Given the description of an element on the screen output the (x, y) to click on. 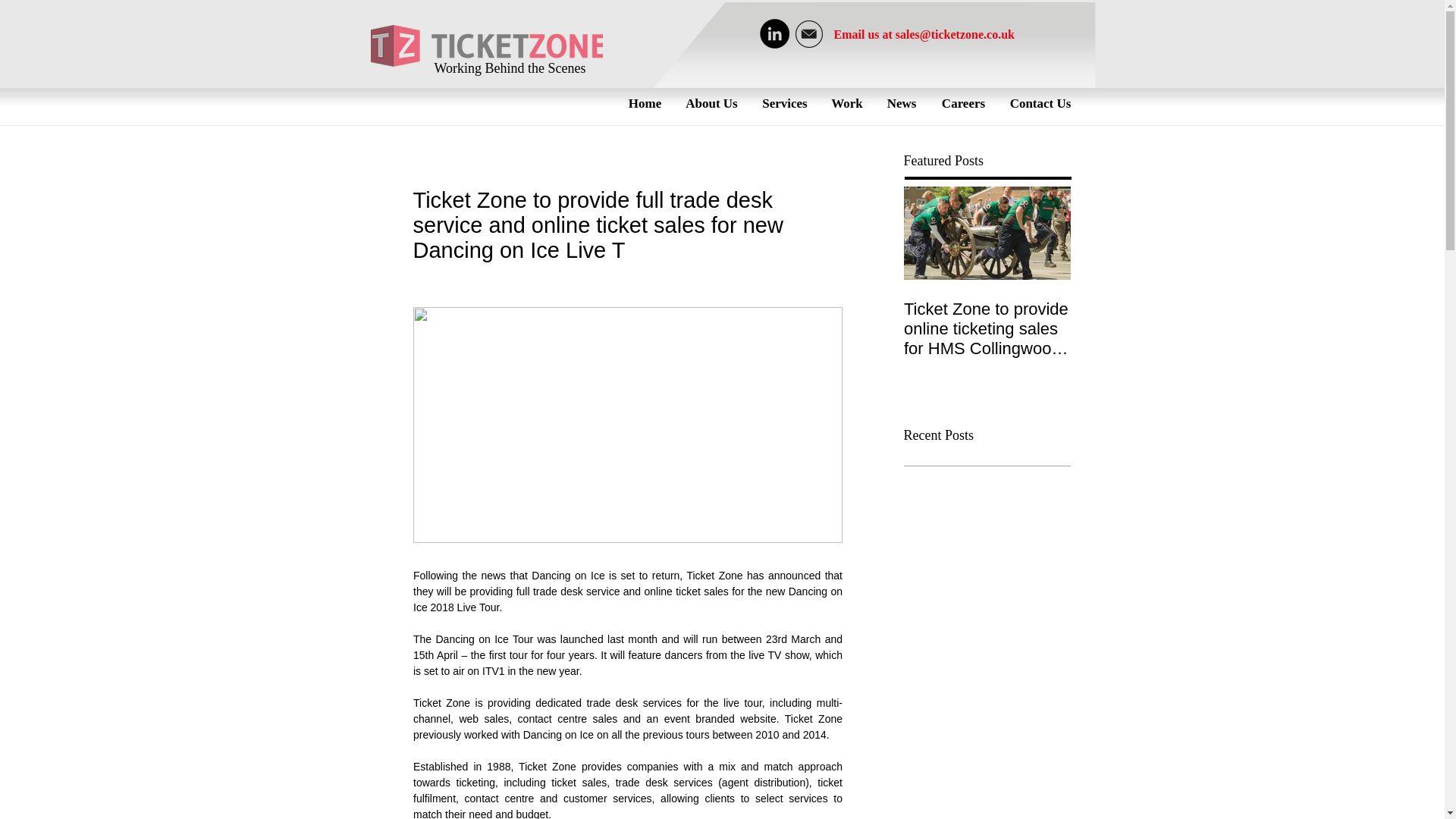
Services (784, 103)
About Us (710, 103)
Careers (963, 103)
Home (643, 103)
Contact Us (1040, 103)
Work (848, 103)
News (900, 103)
